Given the description of an element on the screen output the (x, y) to click on. 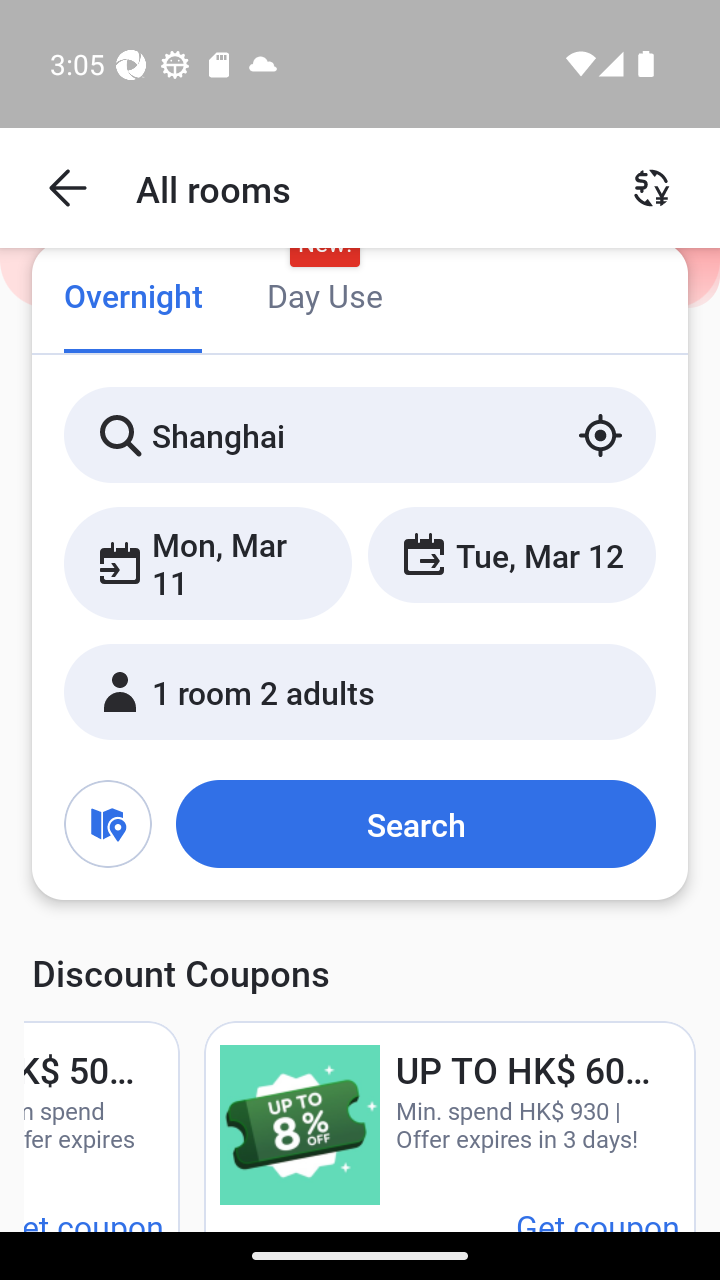
Day Use (324, 298)
Shanghai (359, 434)
Mon, Mar 11 (208, 562)
Tue, Mar 12 (511, 554)
1 room 2 adults (359, 691)
Search (415, 823)
